Given the description of an element on the screen output the (x, y) to click on. 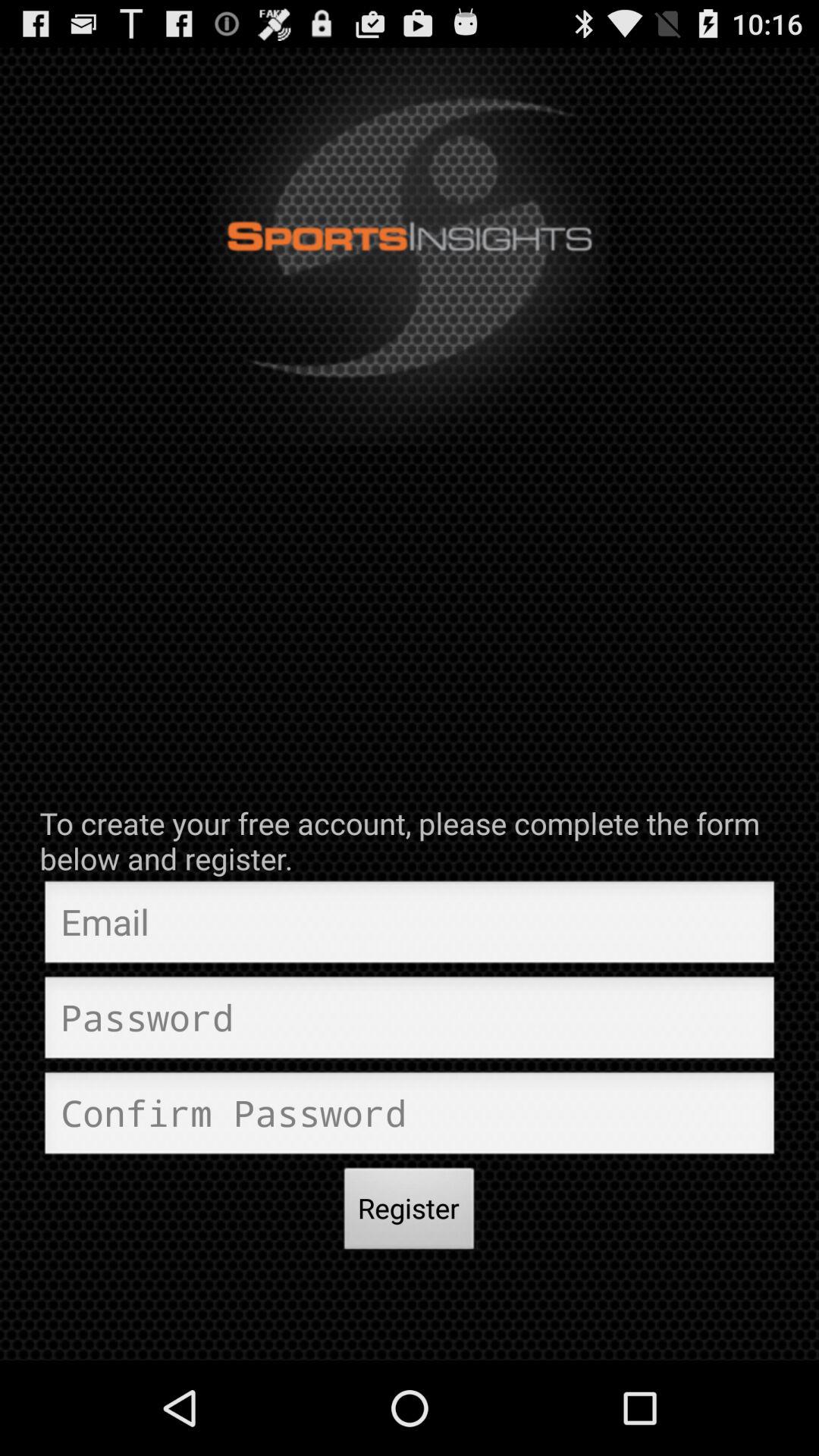
input confirm password (409, 1117)
